Given the description of an element on the screen output the (x, y) to click on. 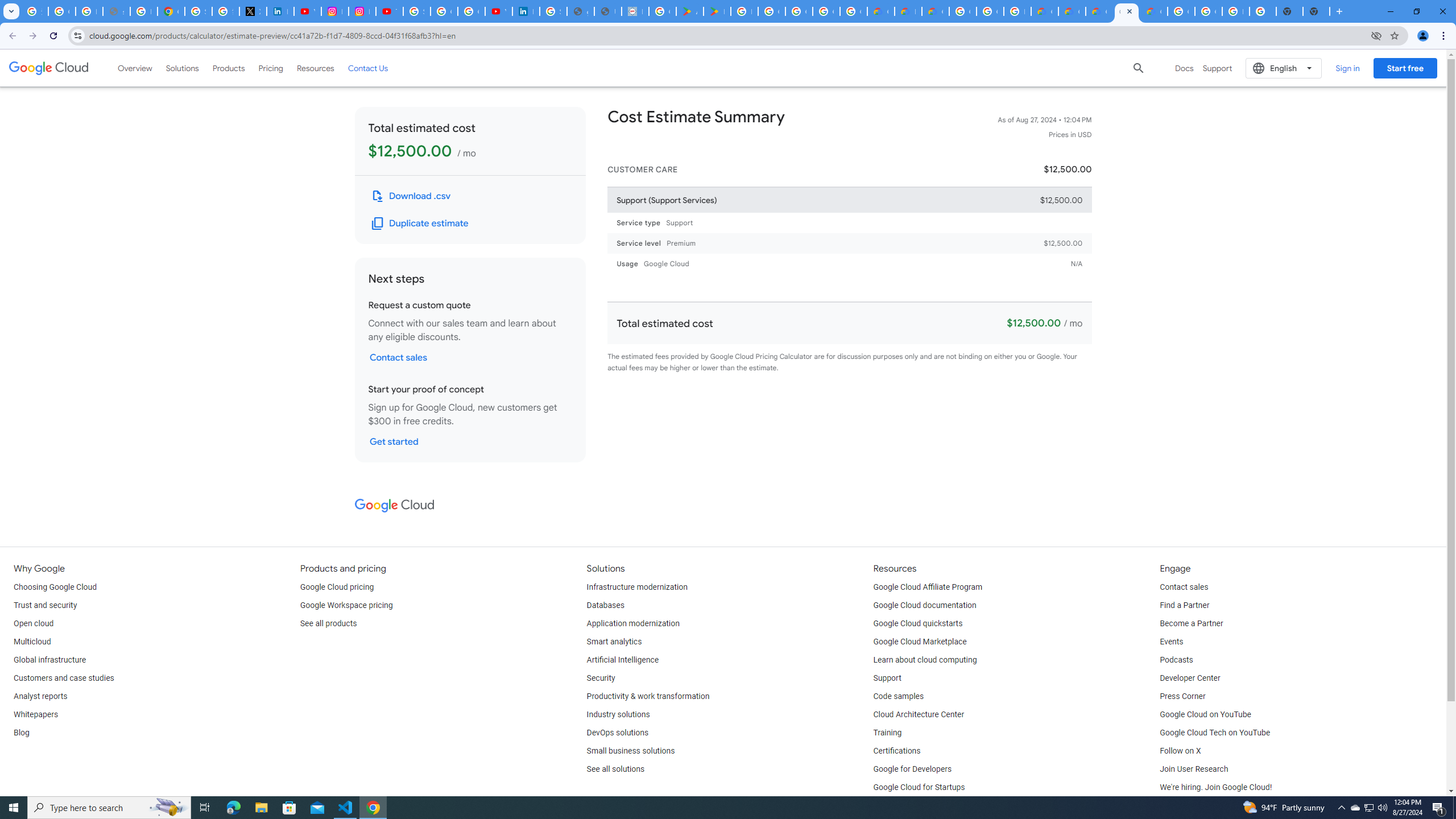
Application modernization (632, 624)
Google Cloud on YouTube (1204, 714)
Privacy Help Center - Policies Help (144, 11)
Google Cloud Pricing Calculator (1071, 11)
Google Cloud (48, 67)
Data Privacy Framework (634, 11)
Contact Us (368, 67)
Google Cloud Marketplace (919, 642)
Google Cloud Service Health (1153, 11)
